Given the description of an element on the screen output the (x, y) to click on. 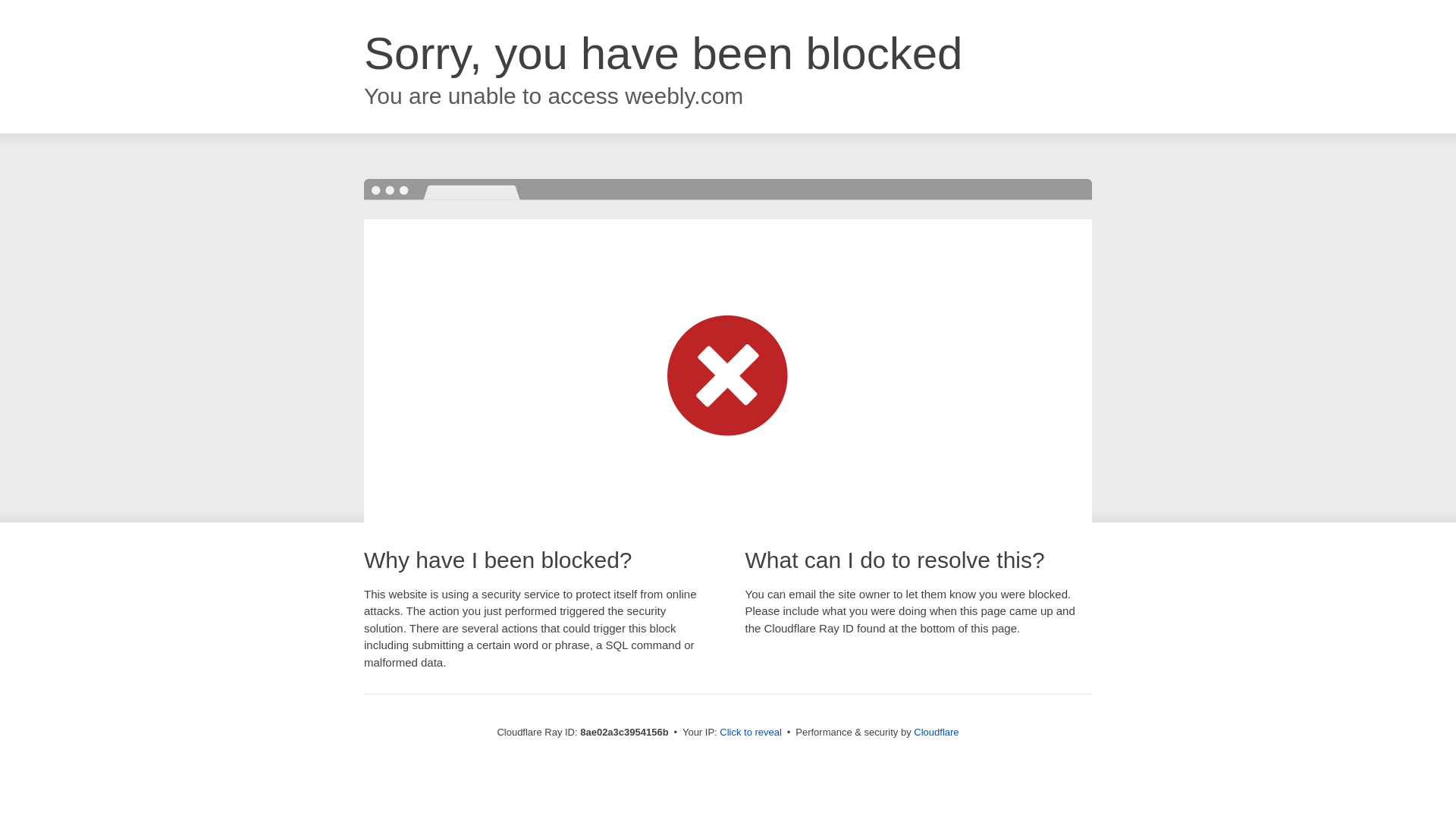
Click to reveal (750, 732)
Cloudflare (936, 731)
